Given the description of an element on the screen output the (x, y) to click on. 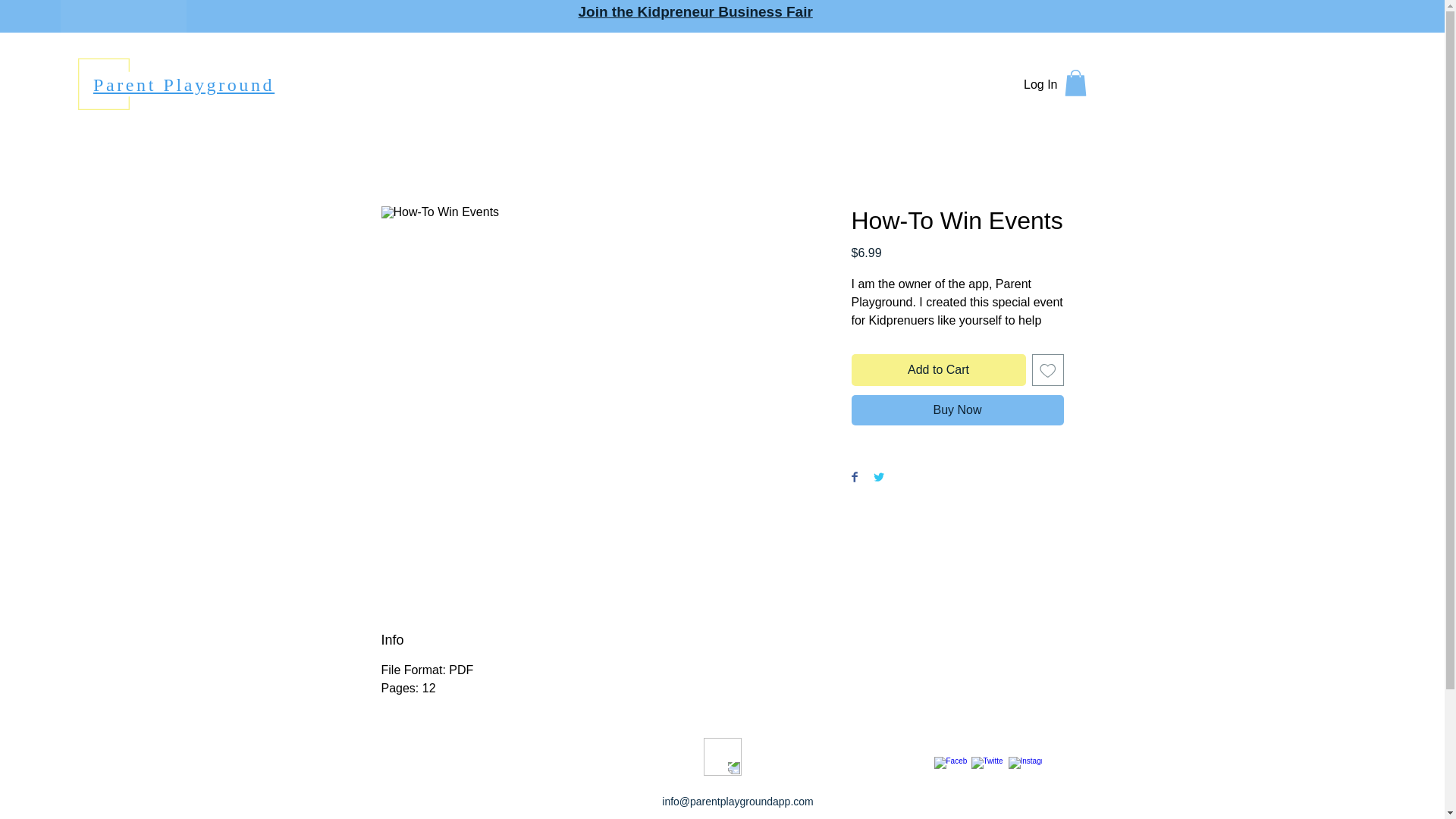
Add to Cart (937, 369)
Parent Playground (184, 84)
Log In (1040, 84)
Buy Now (956, 409)
Join the Kidpreneur Business Fair (695, 11)
